Given the description of an element on the screen output the (x, y) to click on. 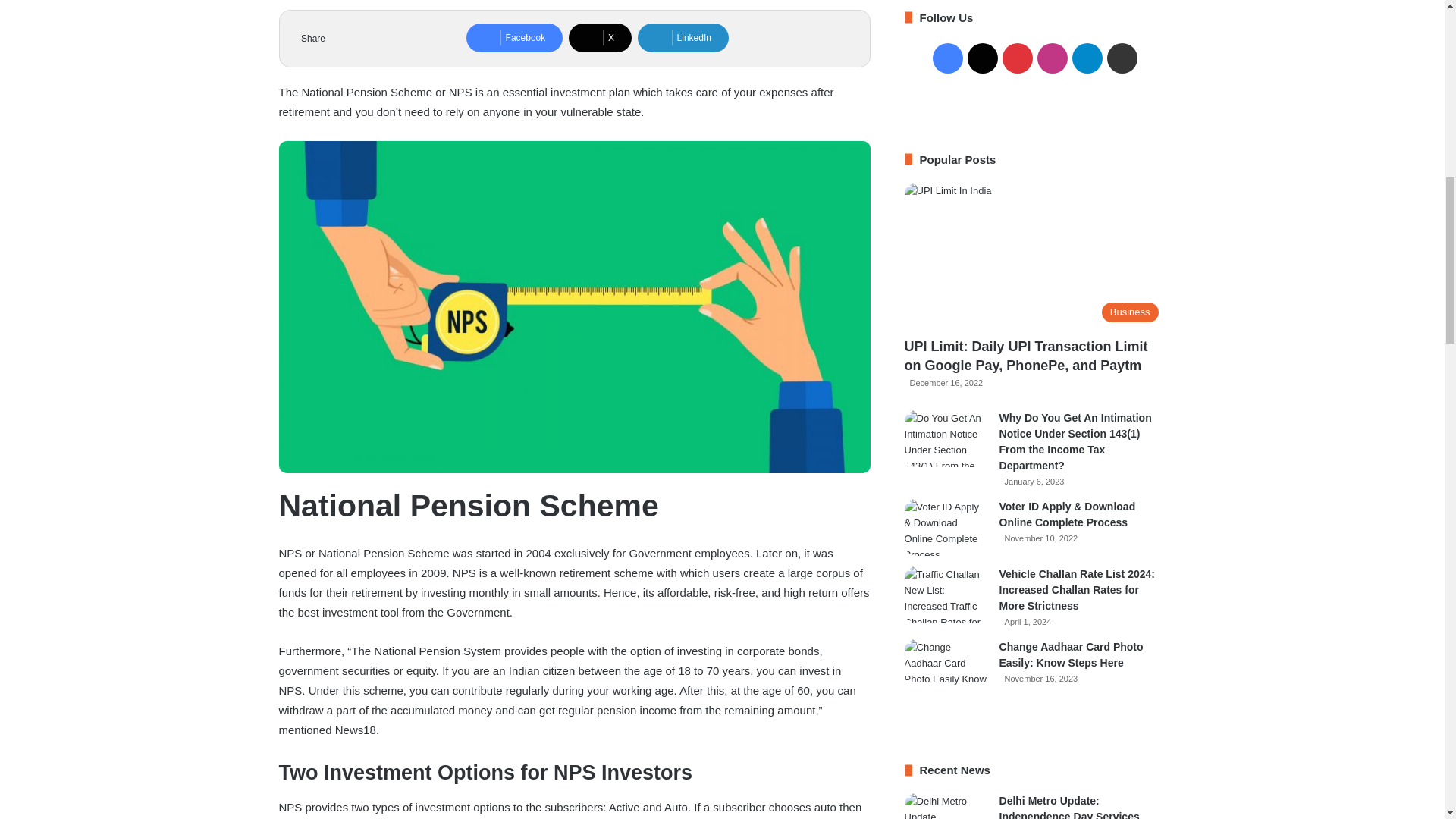
LinkedIn (683, 37)
Facebook (514, 37)
X (600, 37)
